Given the description of an element on the screen output the (x, y) to click on. 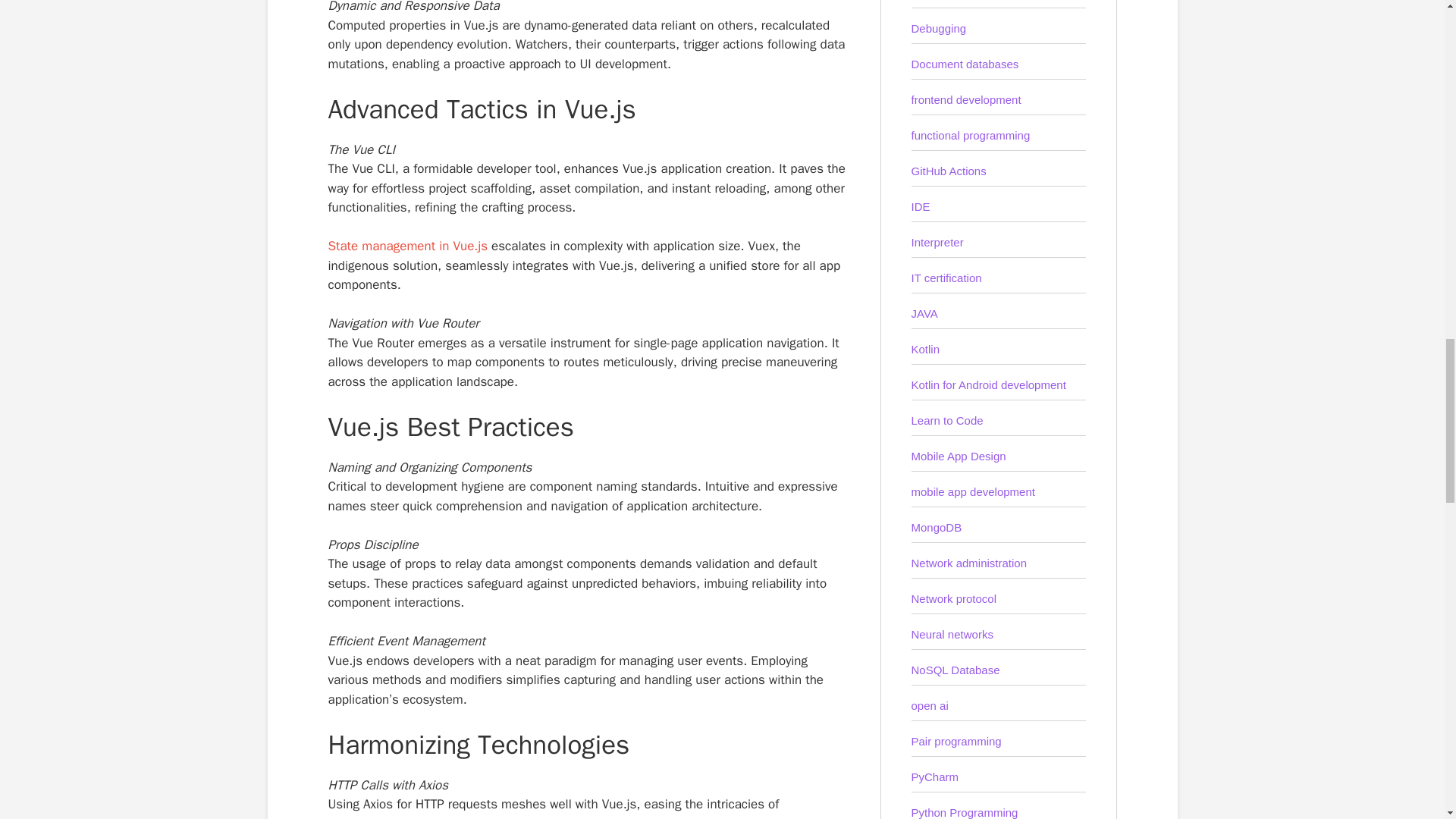
State management in Vue.js (407, 245)
